Given the description of an element on the screen output the (x, y) to click on. 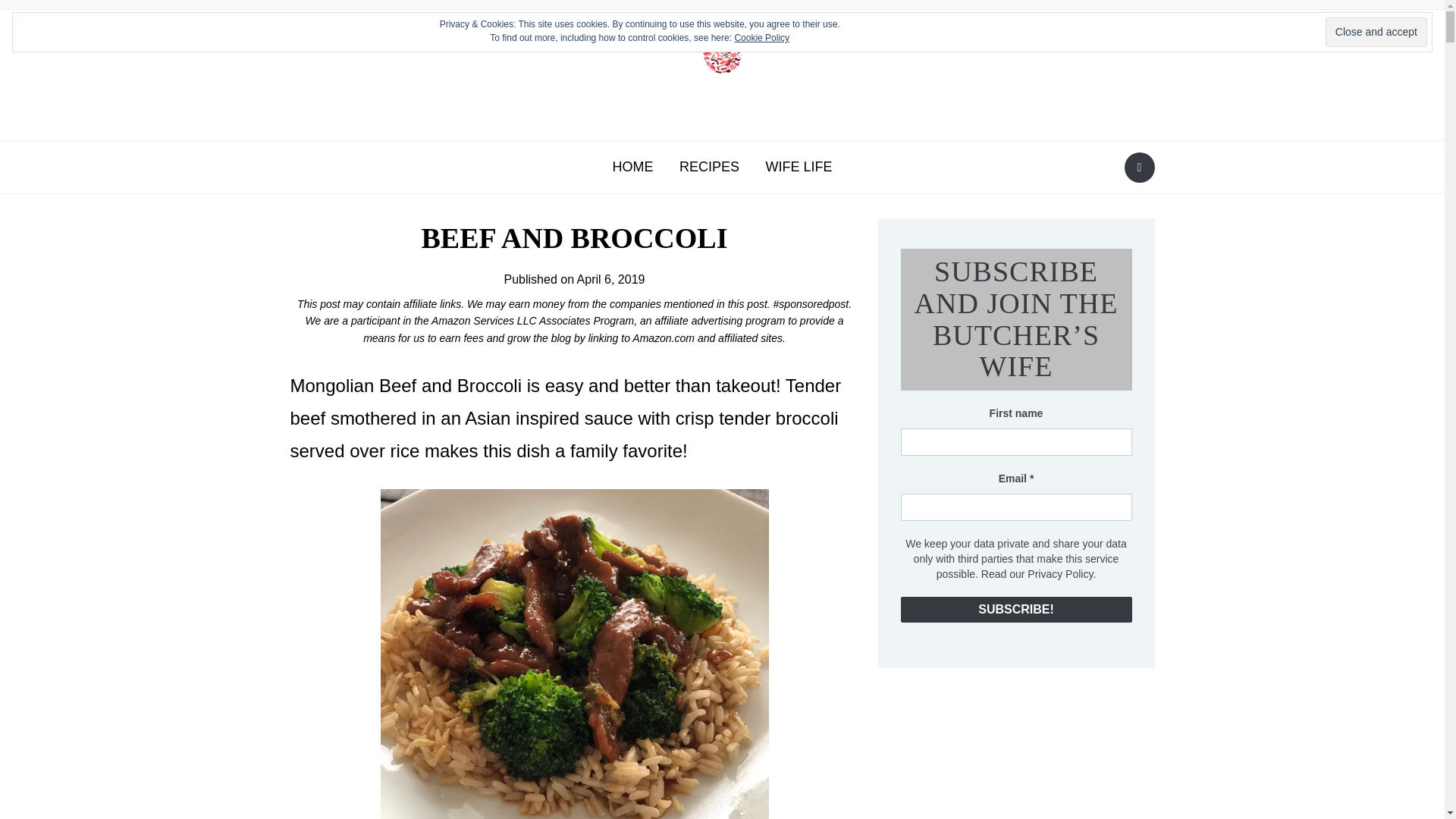
RECIPES (709, 166)
Subscribe! (1016, 609)
Email (1016, 506)
First name (1016, 441)
Search (1139, 167)
WIFE LIFE (798, 166)
HOME (633, 166)
Close and accept (1375, 31)
